Given the description of an element on the screen output the (x, y) to click on. 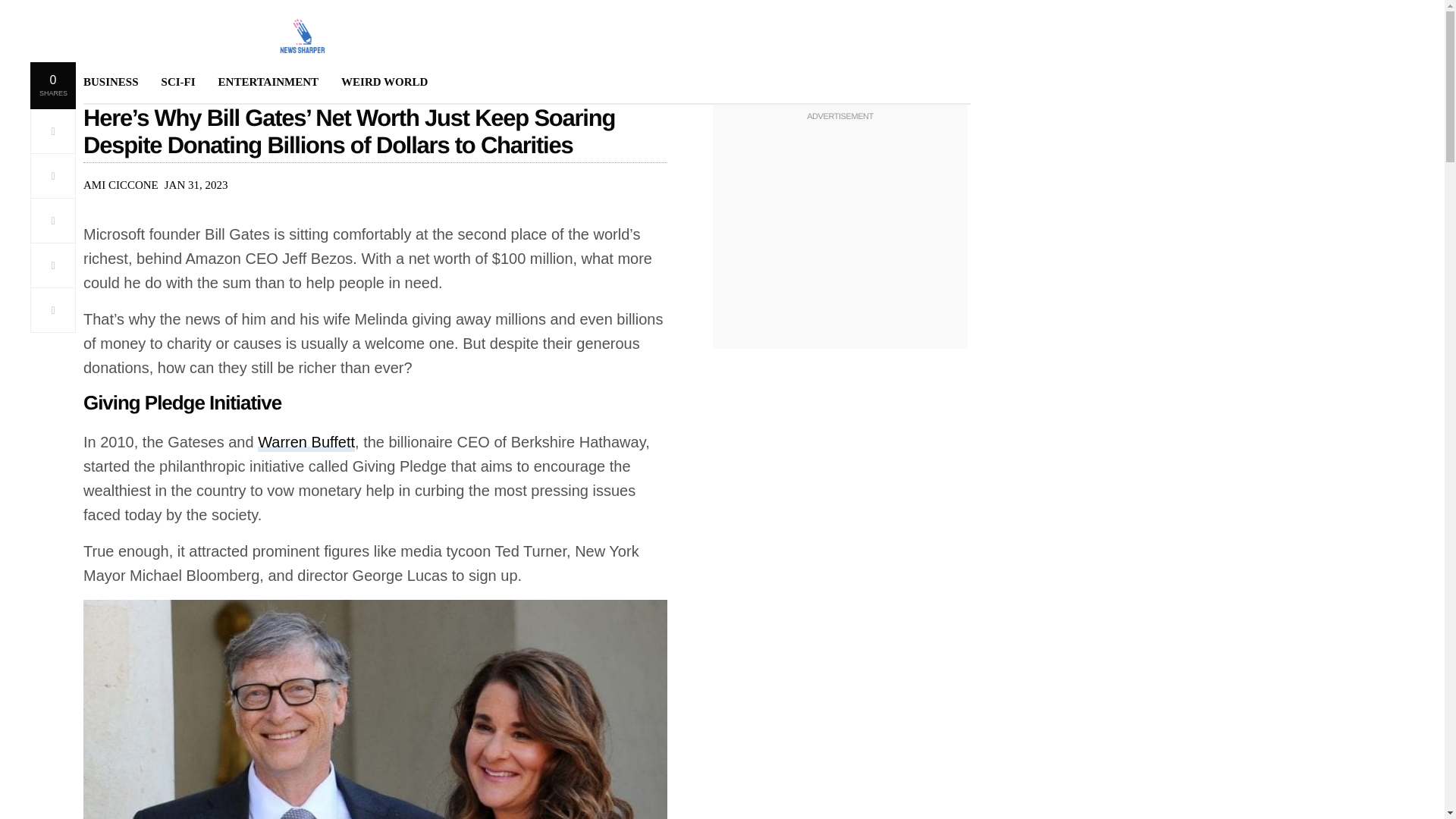
SCI-FI (178, 81)
ENTERTAINMENT (268, 81)
Posts by Ami Ciccone (120, 185)
WEIRD WORLD (384, 81)
Warren Buffett (306, 443)
AMI CICCONE (120, 185)
BUSINESS (110, 81)
